Given the description of an element on the screen output the (x, y) to click on. 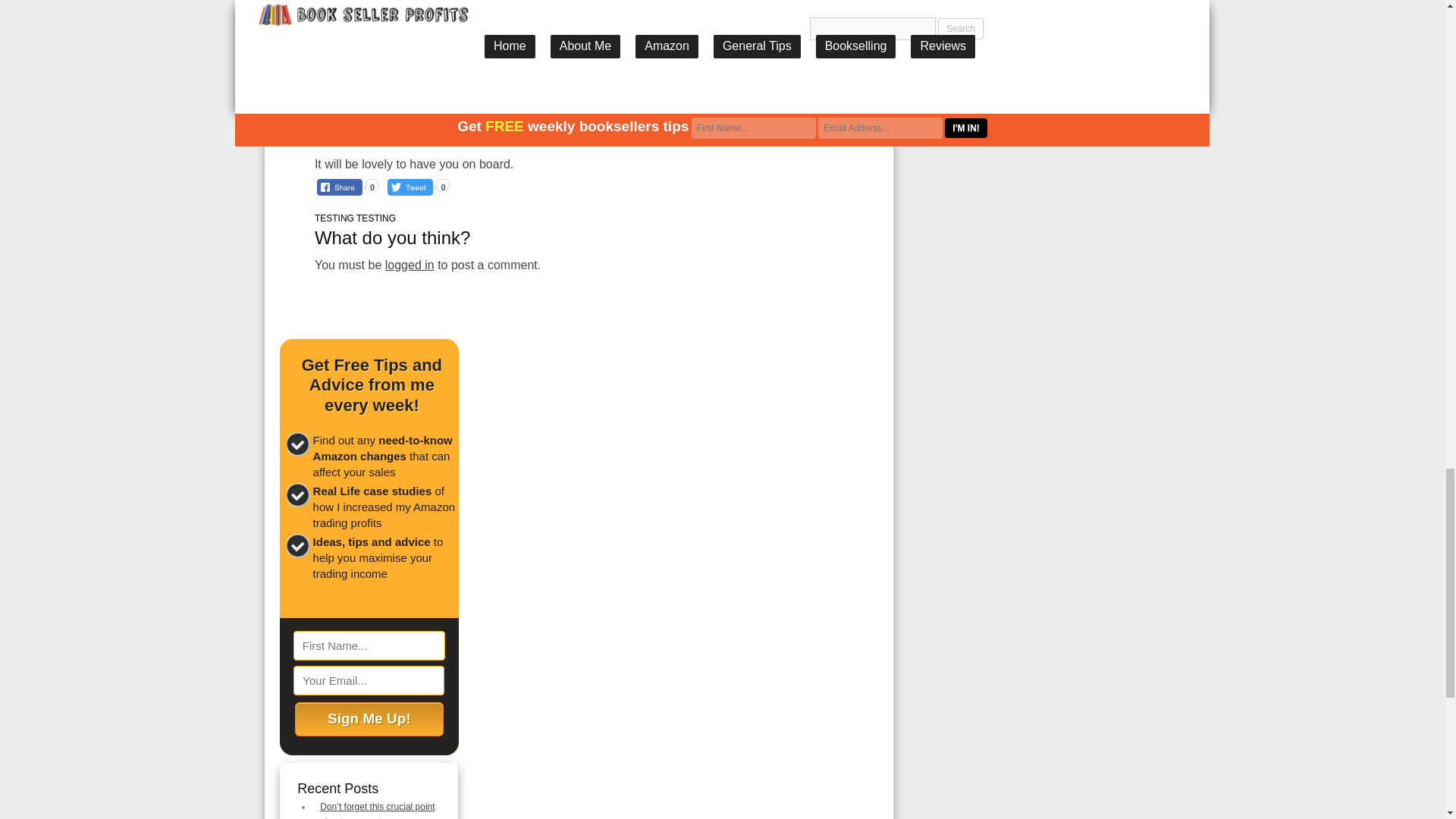
Your Email... (369, 680)
logged in (409, 264)
Sign Me Up! (369, 718)
click on this link (580, 133)
First Name... (369, 645)
